Given the description of an element on the screen output the (x, y) to click on. 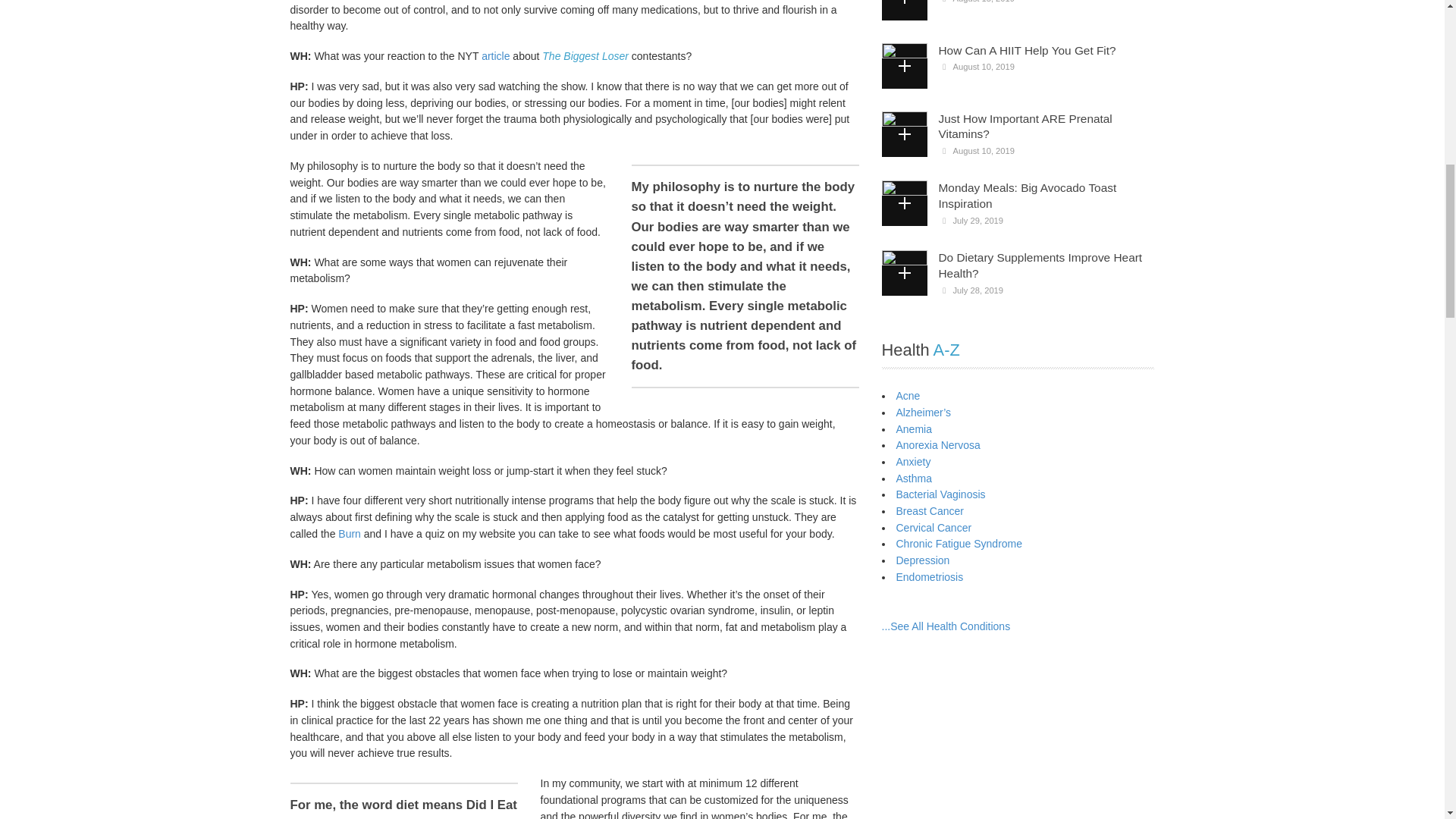
article (496, 55)
Burn (349, 533)
